Given the description of an element on the screen output the (x, y) to click on. 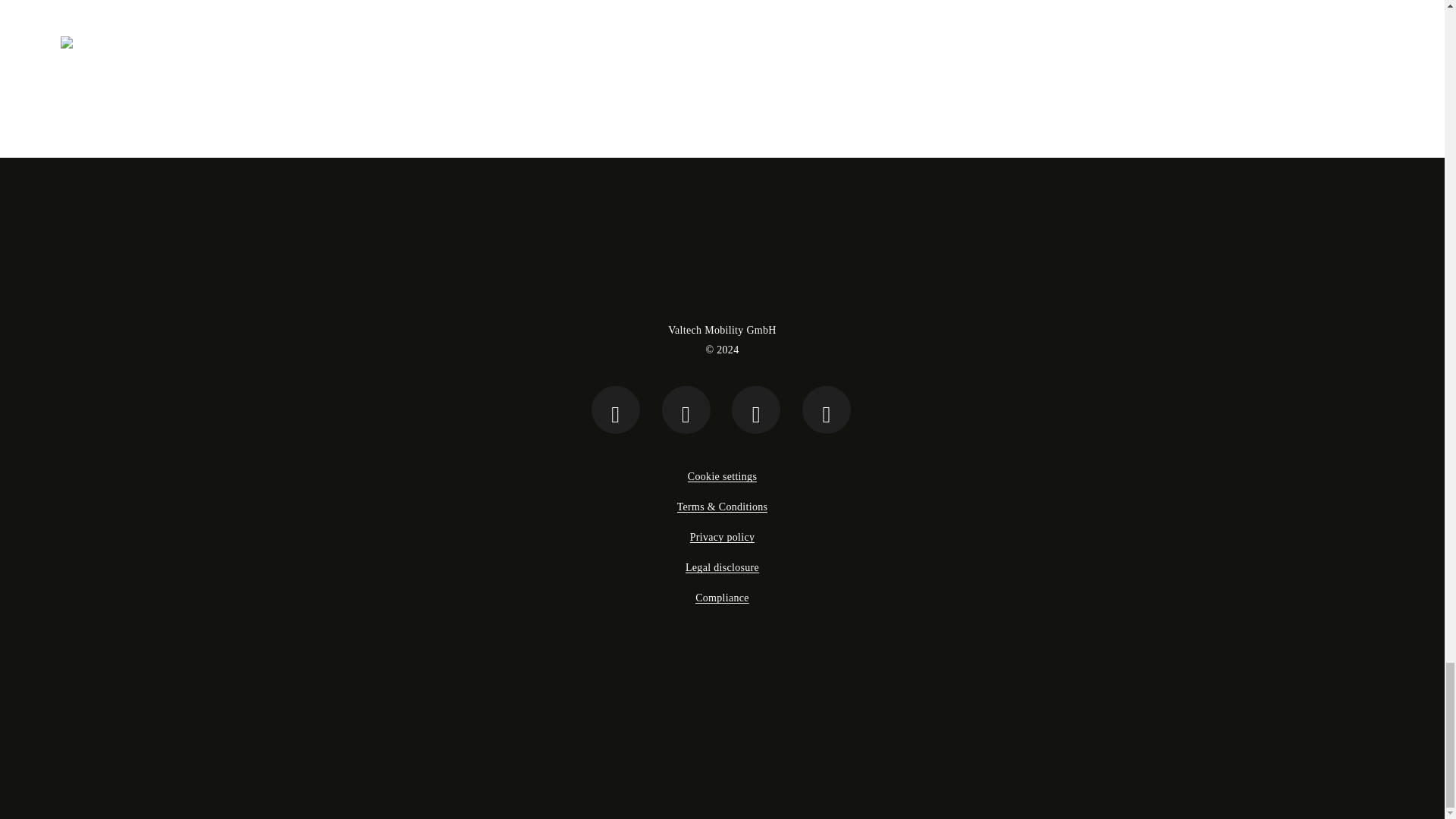
Valtech Mobility Xing (756, 409)
Valtech Mobility LinkedIn (826, 409)
Valtech Mobility E-Mail (686, 409)
Valtech Mobility Instagram (615, 409)
Cookie settings (722, 476)
Privacy policy (722, 536)
Legal disclosure (721, 567)
Compliance (722, 597)
